Given the description of an element on the screen output the (x, y) to click on. 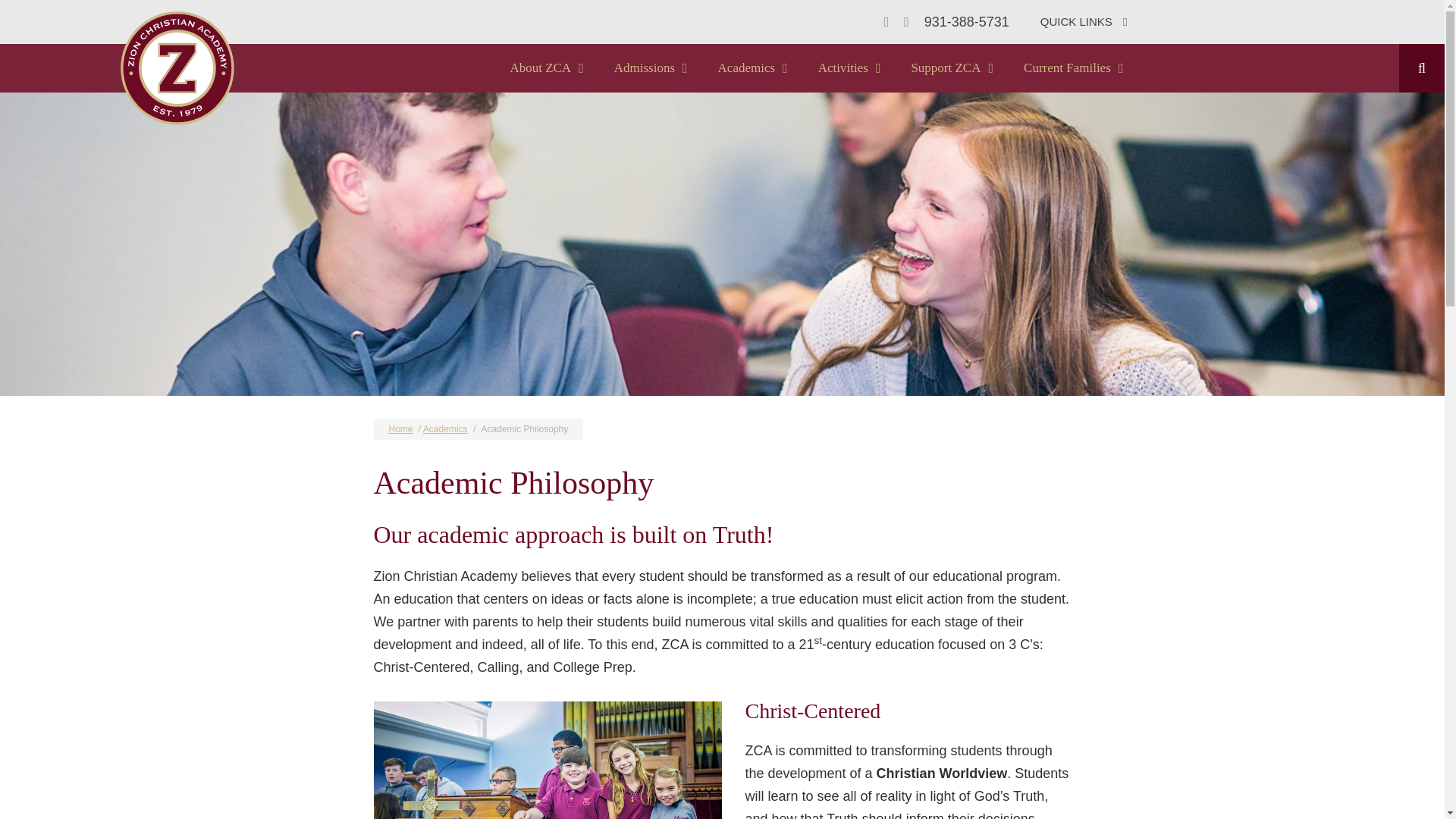
Activities (849, 68)
Admissions (650, 68)
Go to Home Page (177, 68)
Support ZCA (952, 68)
QUICK LINKS (1083, 22)
Academics (753, 68)
About ZCA (546, 68)
931-388-5731 (966, 21)
